Given the description of an element on the screen output the (x, y) to click on. 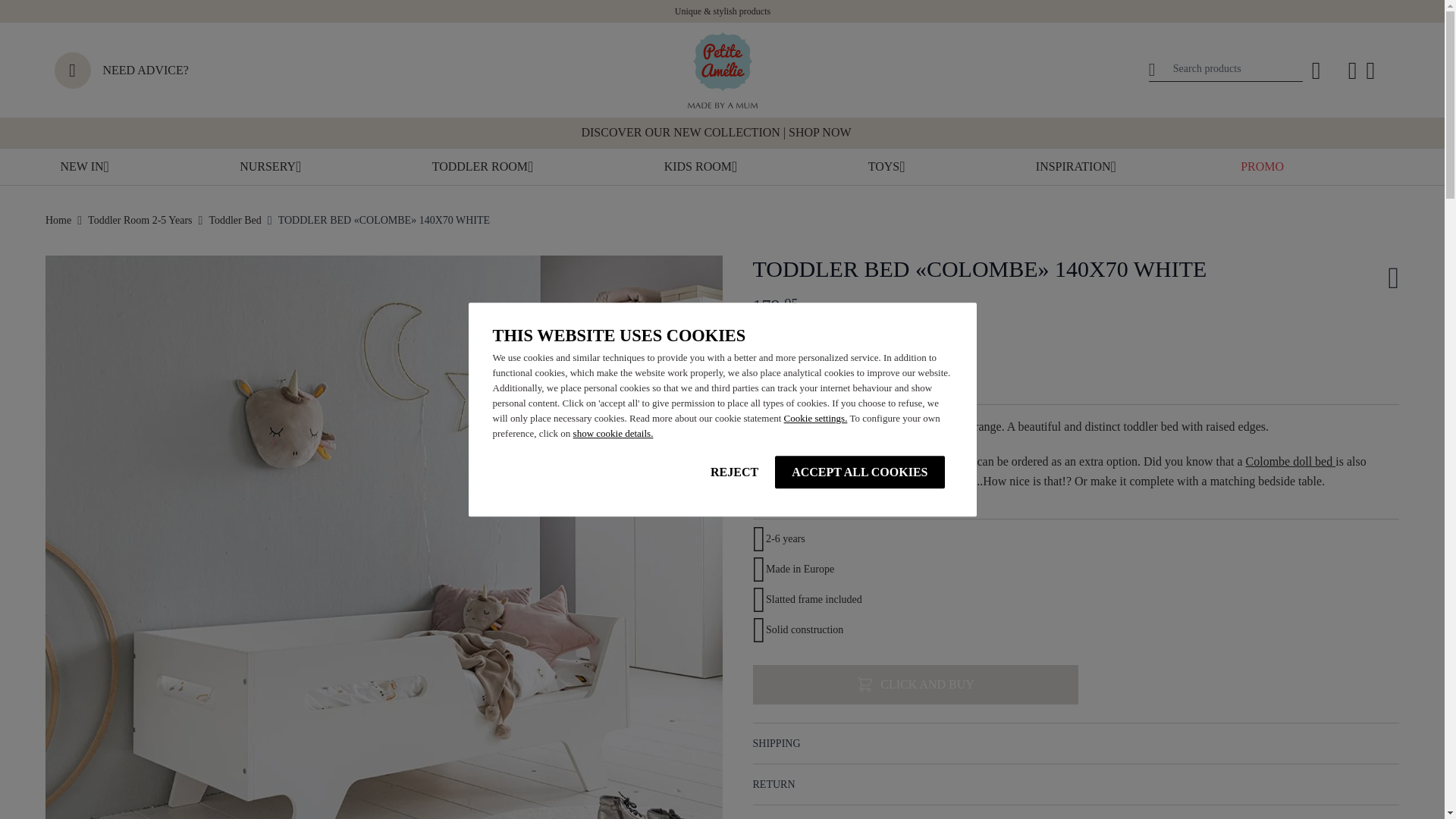
REJECT (734, 471)
Cookie settings. (815, 418)
show cookie details. (613, 432)
ACCEPT ALL COOKIES (858, 471)
